Given the description of an element on the screen output the (x, y) to click on. 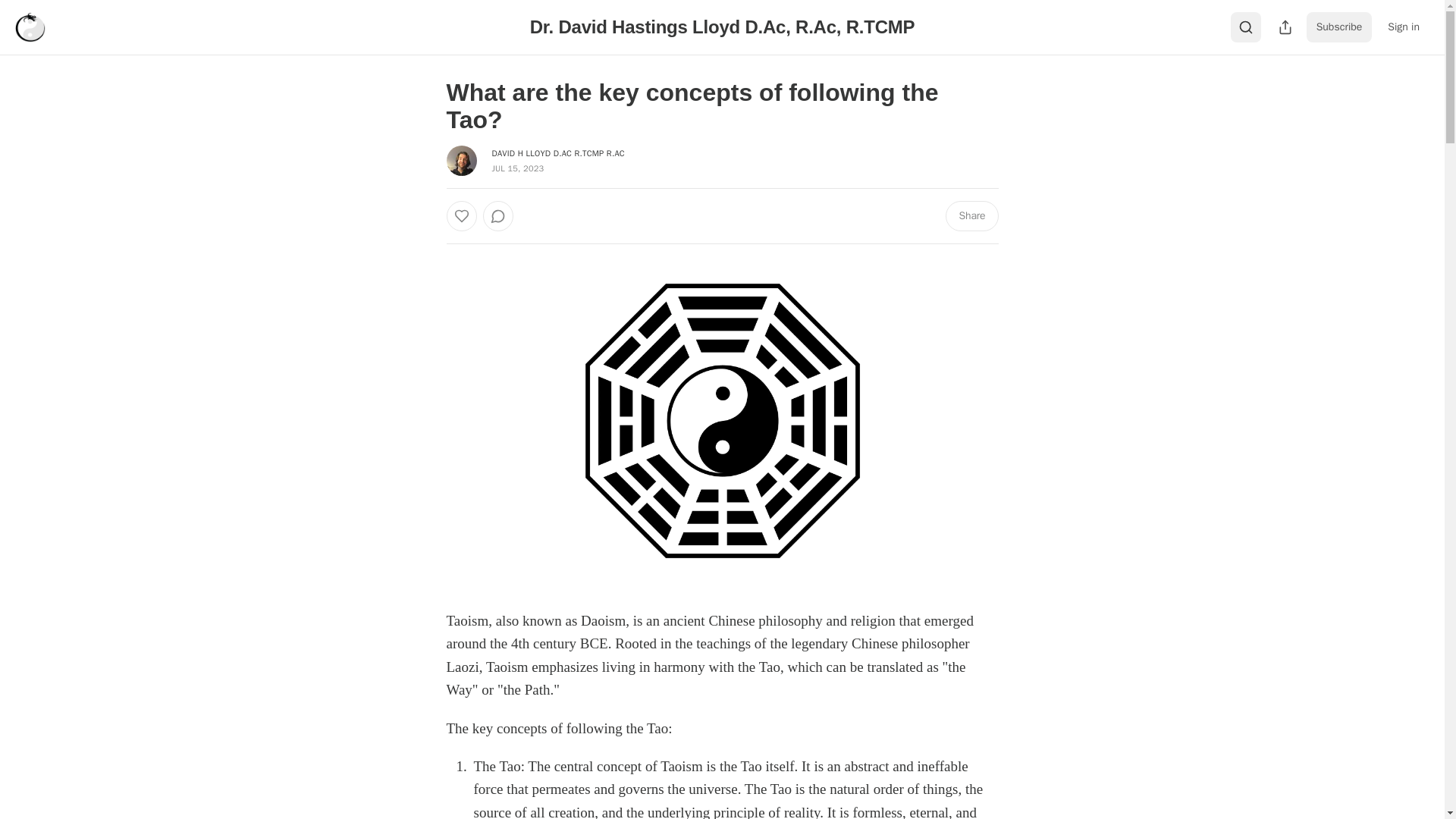
Subscribe (1339, 27)
Share (970, 215)
DAVID H LLOYD D.AC R.TCMP R.AC (558, 153)
Sign in (1403, 27)
Dr. David Hastings Lloyd D.Ac, R.Ac, R.TCMP (722, 26)
